Given the description of an element on the screen output the (x, y) to click on. 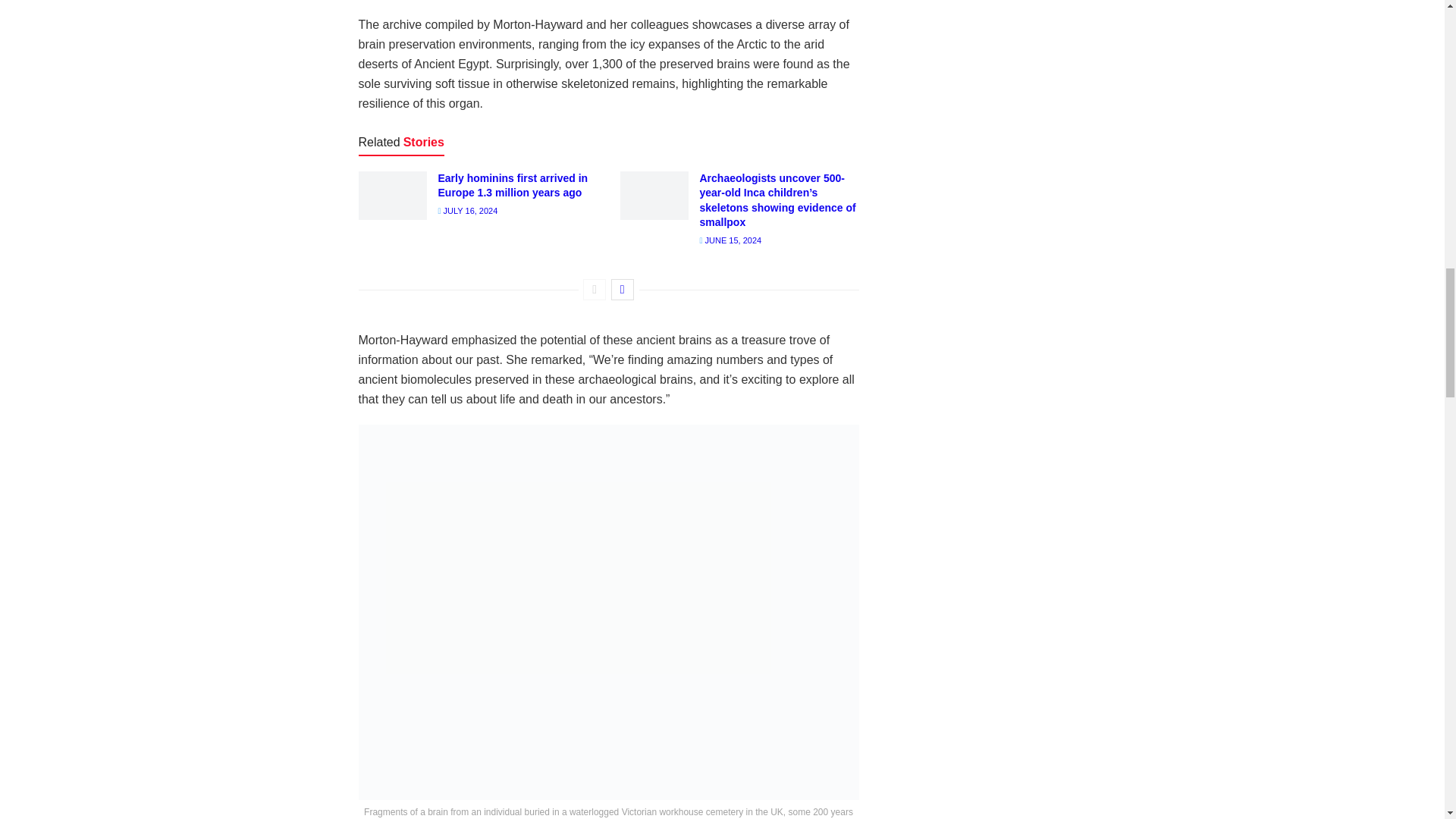
Next (622, 289)
Previous (594, 289)
